Given the description of an element on the screen output the (x, y) to click on. 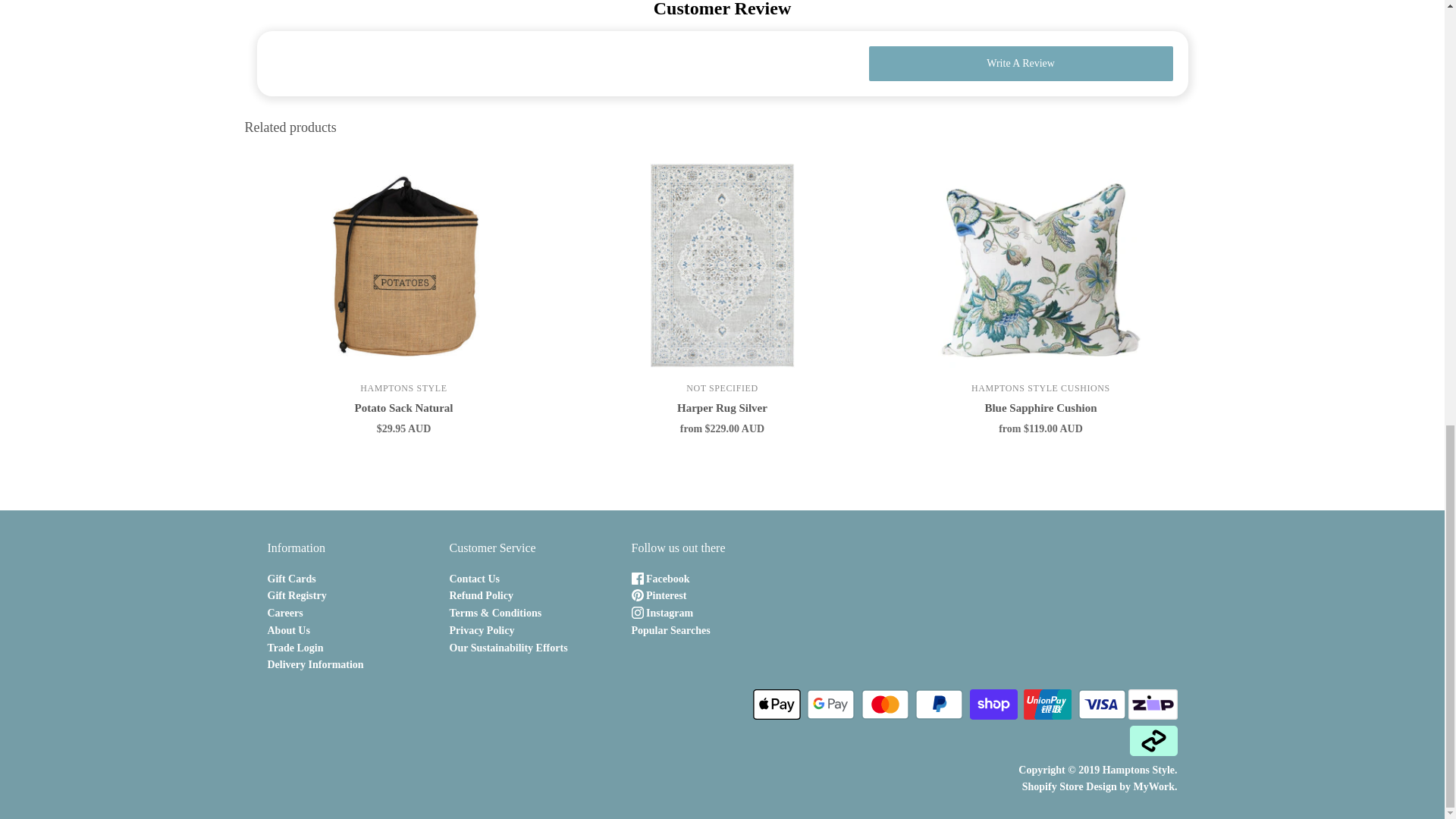
Facebook (659, 578)
Instagram (661, 613)
PayPal (938, 704)
Mastercard (884, 704)
Google Pay (830, 704)
hamptons style cushions (1040, 388)
Apple Pay (776, 704)
Visa (1101, 704)
Not specified (721, 388)
Union Pay (1047, 704)
Hamptons Style (402, 388)
Pinterest (657, 595)
Shop Pay (993, 704)
